Given the description of an element on the screen output the (x, y) to click on. 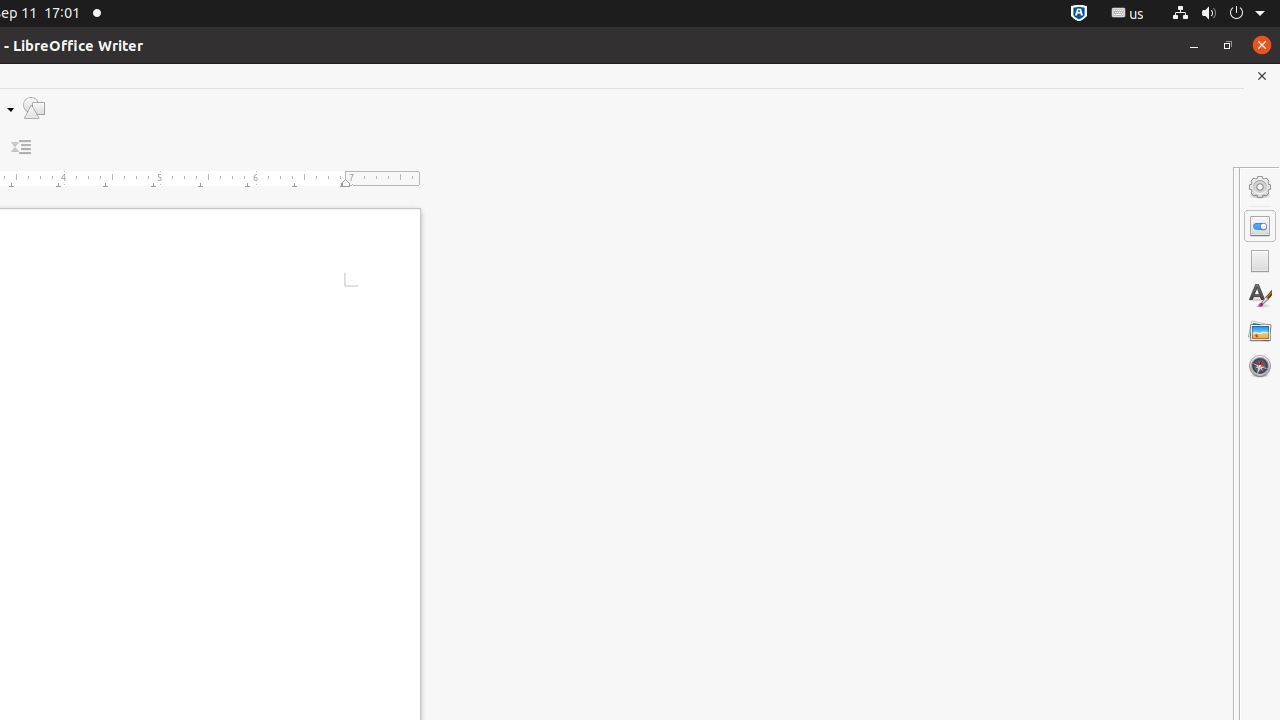
Draw Functions Element type: push-button (33, 108)
Styles Element type: radio-button (1260, 296)
